Given the description of an element on the screen output the (x, y) to click on. 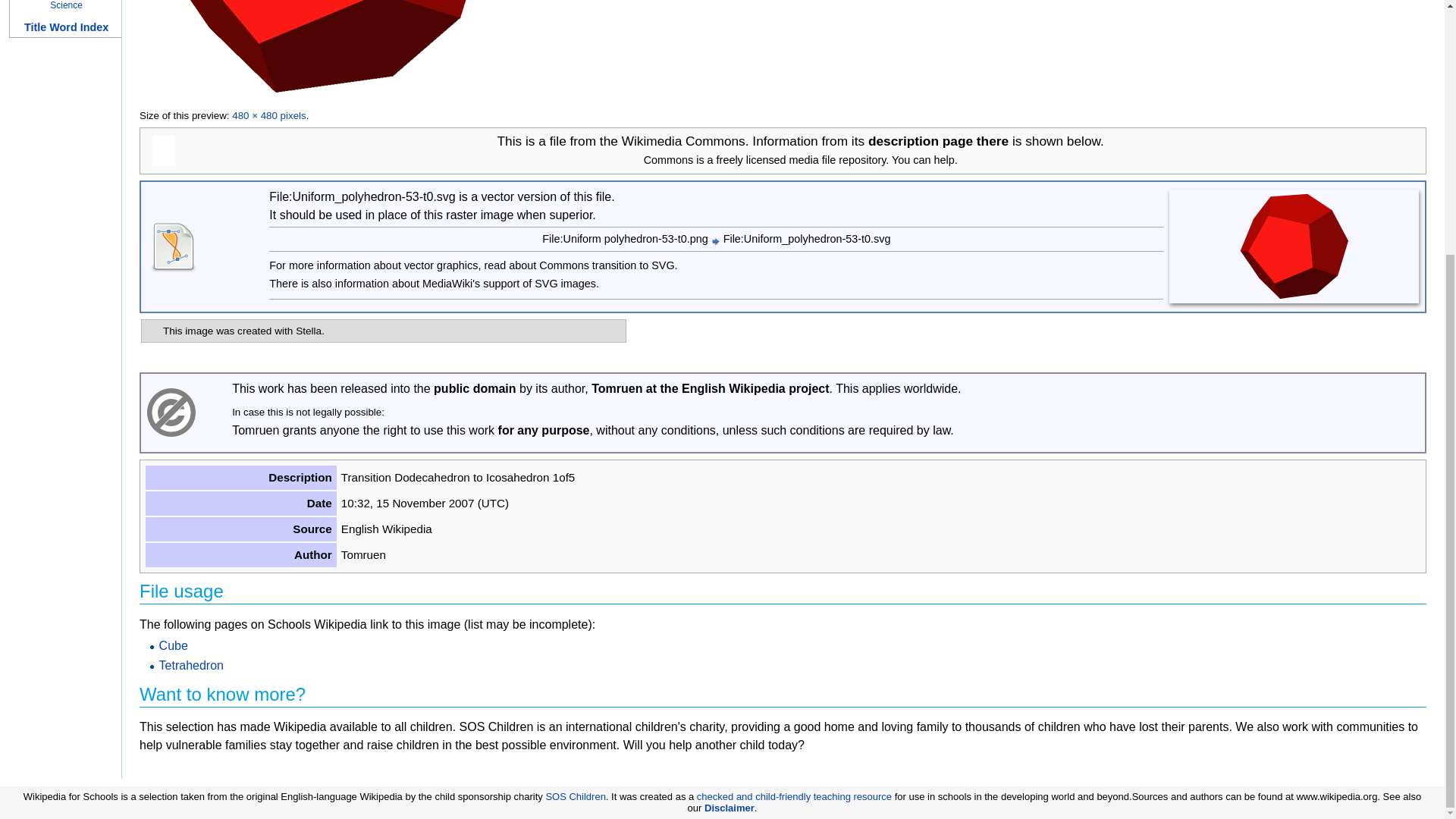
checked and child-friendly teaching resource (794, 796)
Tetrahedron (191, 665)
Disclaimer (729, 808)
Science (65, 5)
Cube (172, 645)
Title Word Index (65, 27)
Cube (172, 645)
Tetrahedron (191, 665)
SOS Children (574, 796)
